Given the description of an element on the screen output the (x, y) to click on. 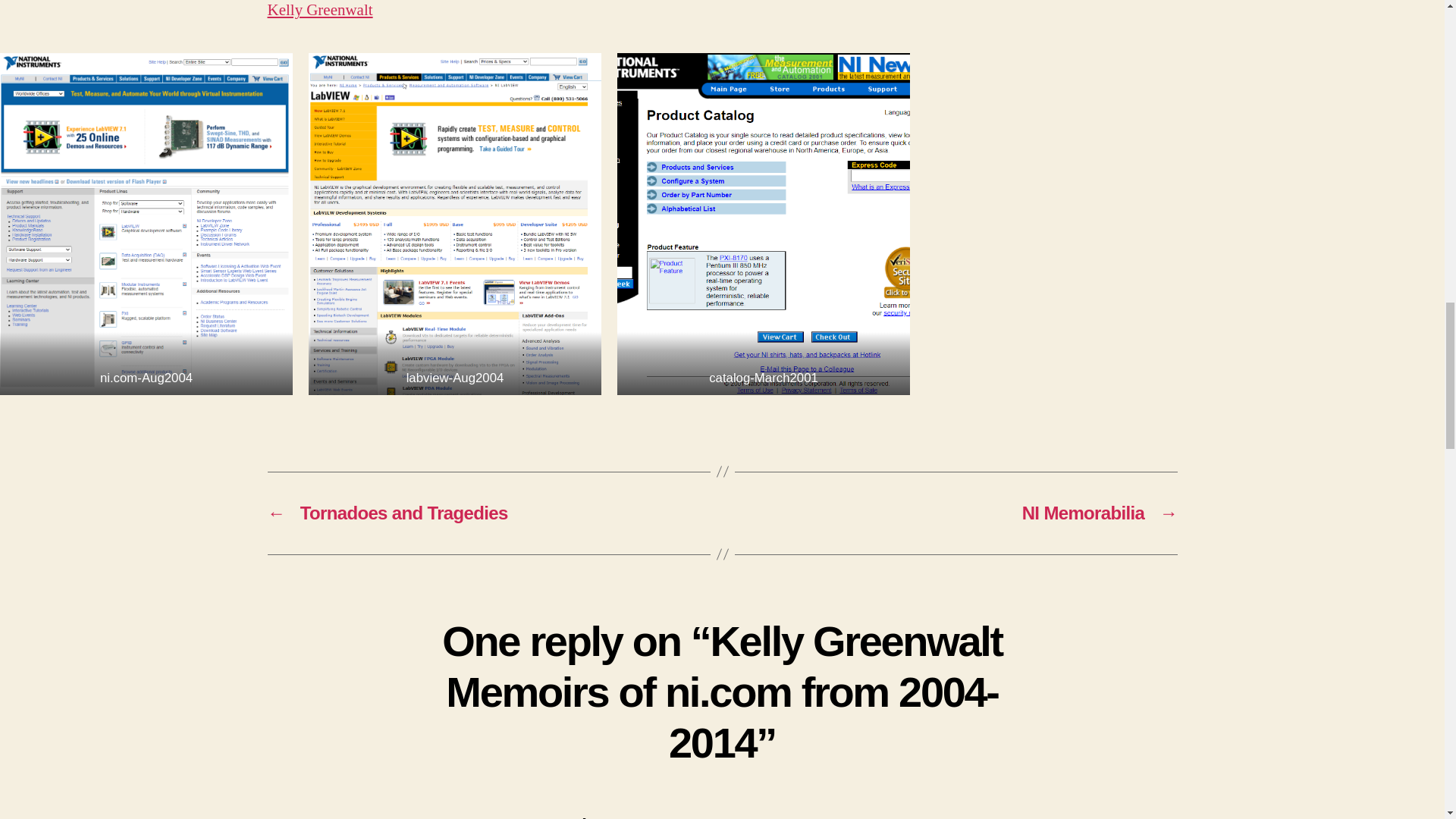
Kelly Greenwalt (319, 10)
